Given the description of an element on the screen output the (x, y) to click on. 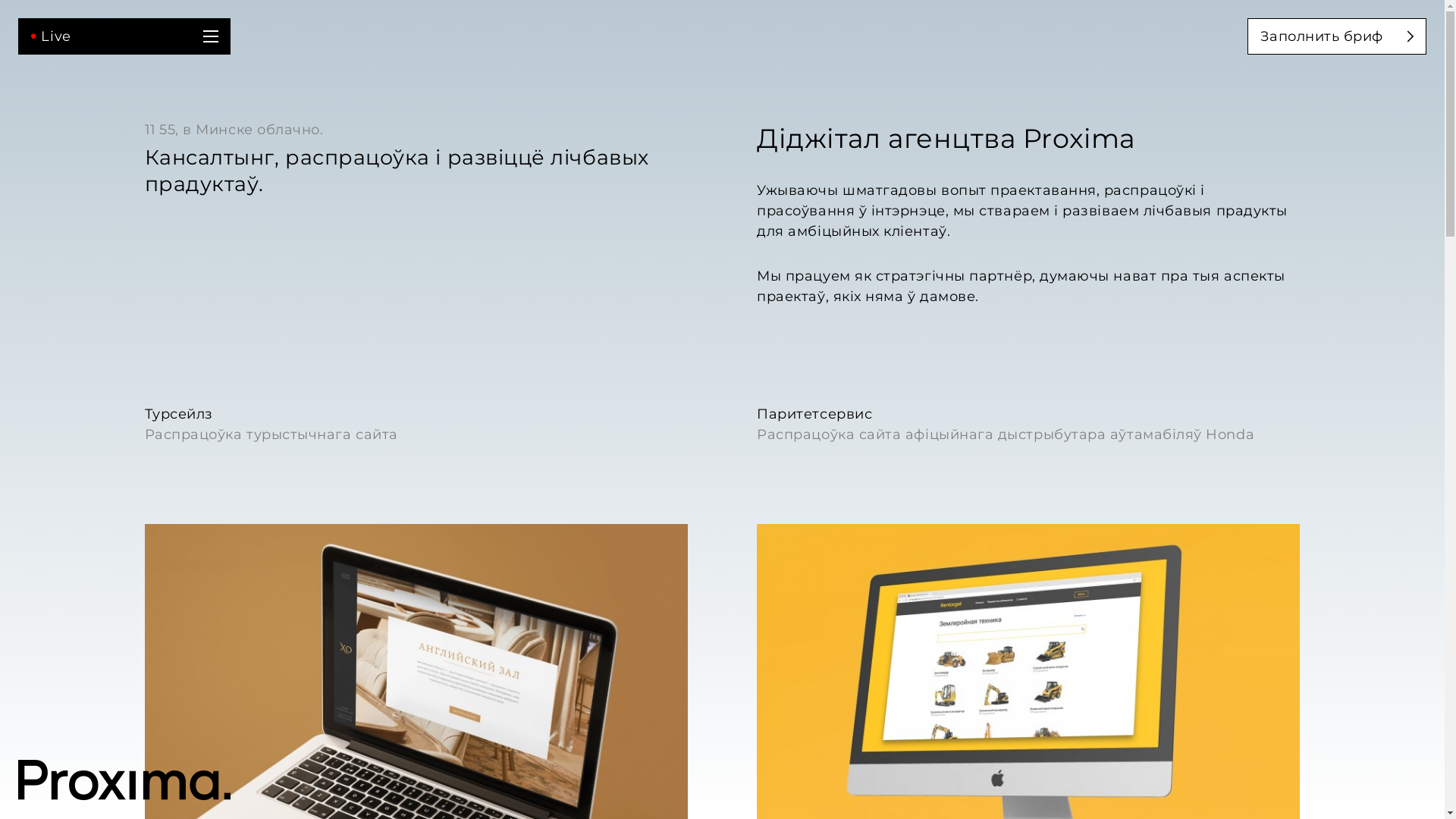
Live Element type: text (124, 70)
